Given the description of an element on the screen output the (x, y) to click on. 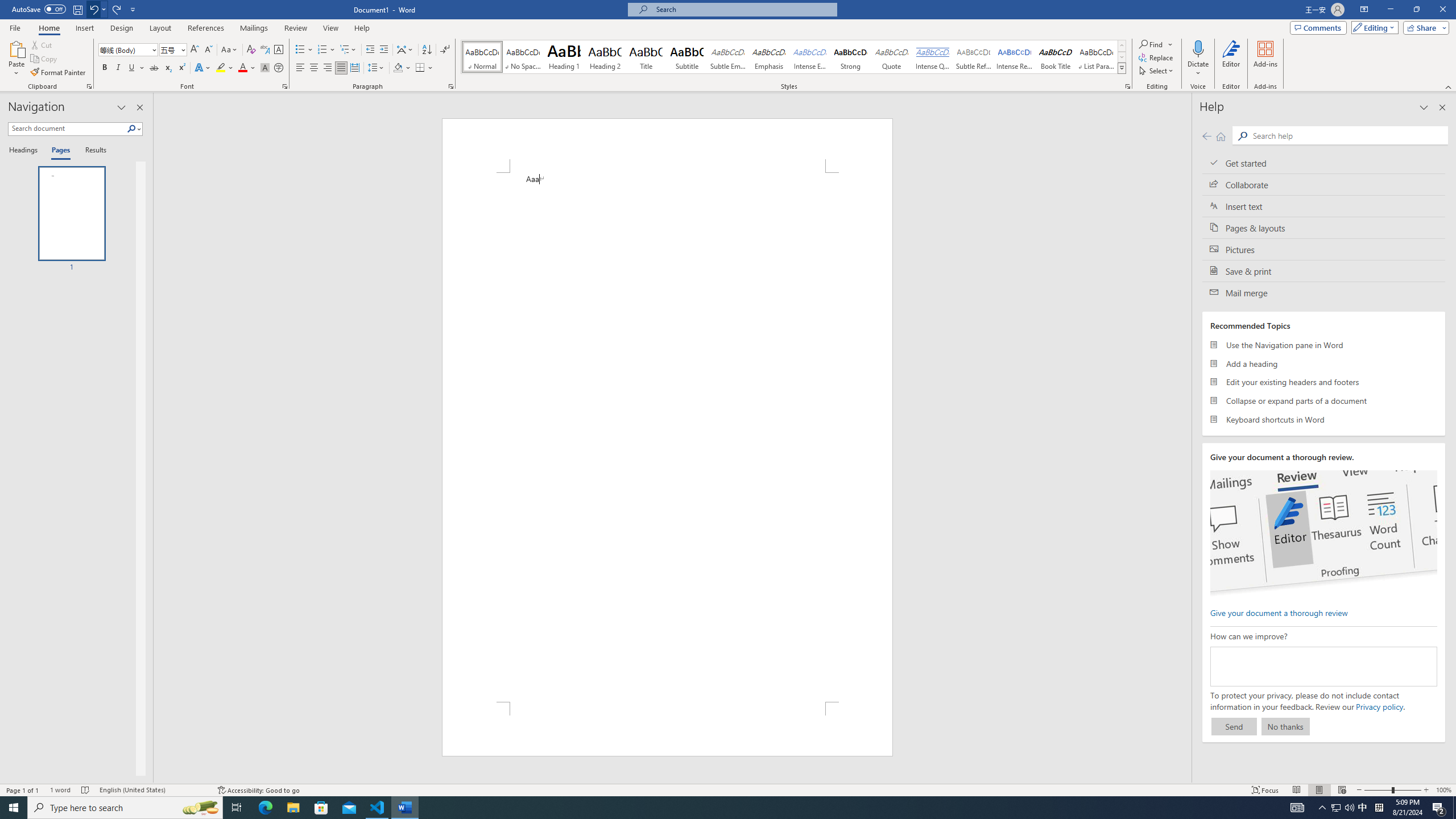
Character Shading (264, 67)
Pages & layouts (1323, 228)
Heading 1 (564, 56)
Text Highlight Color Yellow (220, 67)
Open (182, 49)
Class: NetUIScrollBar (1186, 437)
Privacy policy (1379, 706)
Send (1233, 726)
Mode (1372, 27)
Previous page (1206, 136)
Align Left (300, 67)
